Given the description of an element on the screen output the (x, y) to click on. 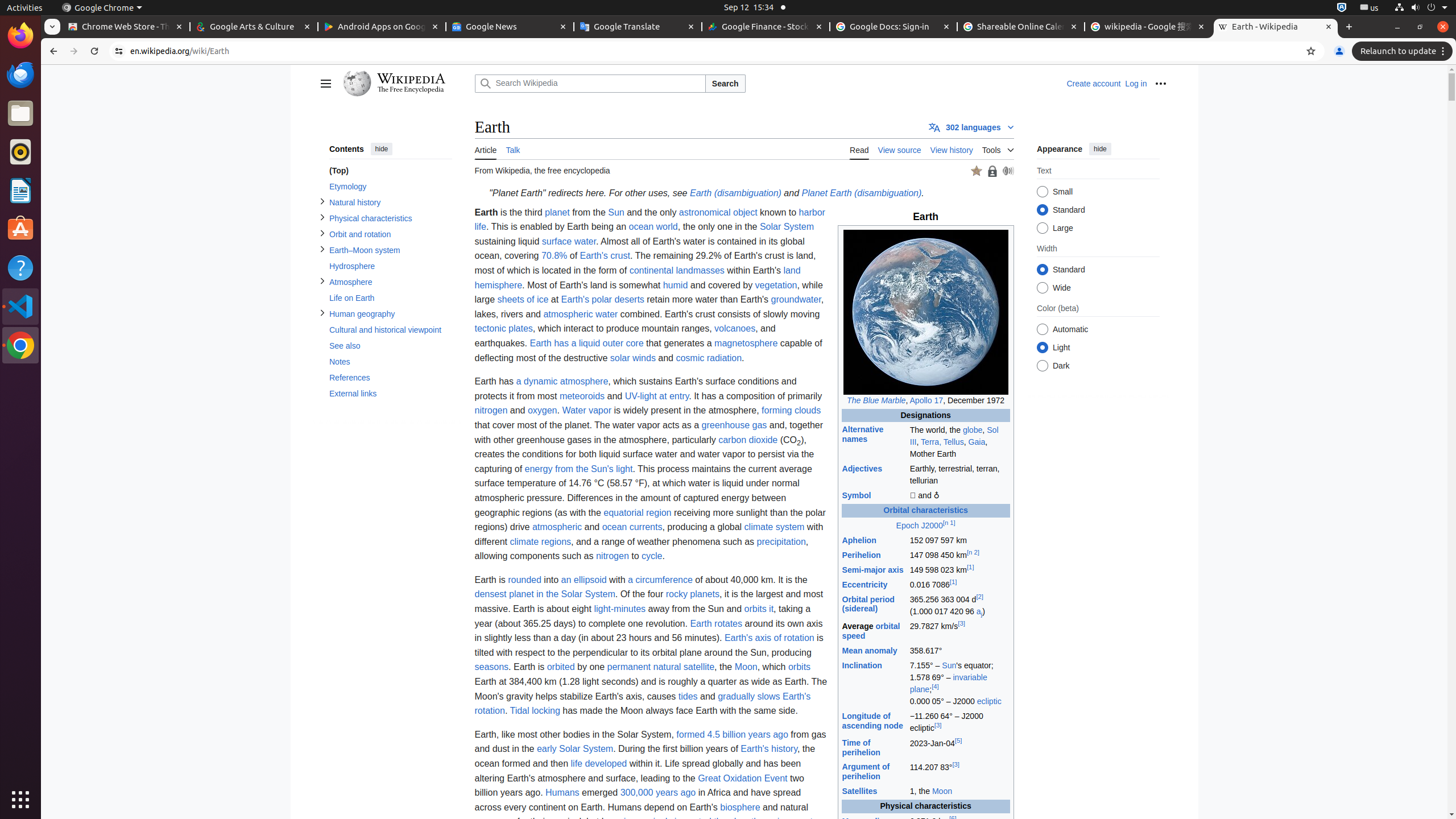
carbon dioxide Element type: link (748, 439)
1, the Moon Element type: table-cell (959, 791)
Photograph of Earth taken by the Apollo 17 mission. The Arabian peninsula, Africa and Madagascar lie in the upper half of the disc, whereas Antarctica is at the bottom. The Blue Marble, Apollo 17, December 1972 Element type: table-cell (925, 317)
Go to an article in another language. Available in 302 languages Element type: push-button (970, 126)
